Given the description of an element on the screen output the (x, y) to click on. 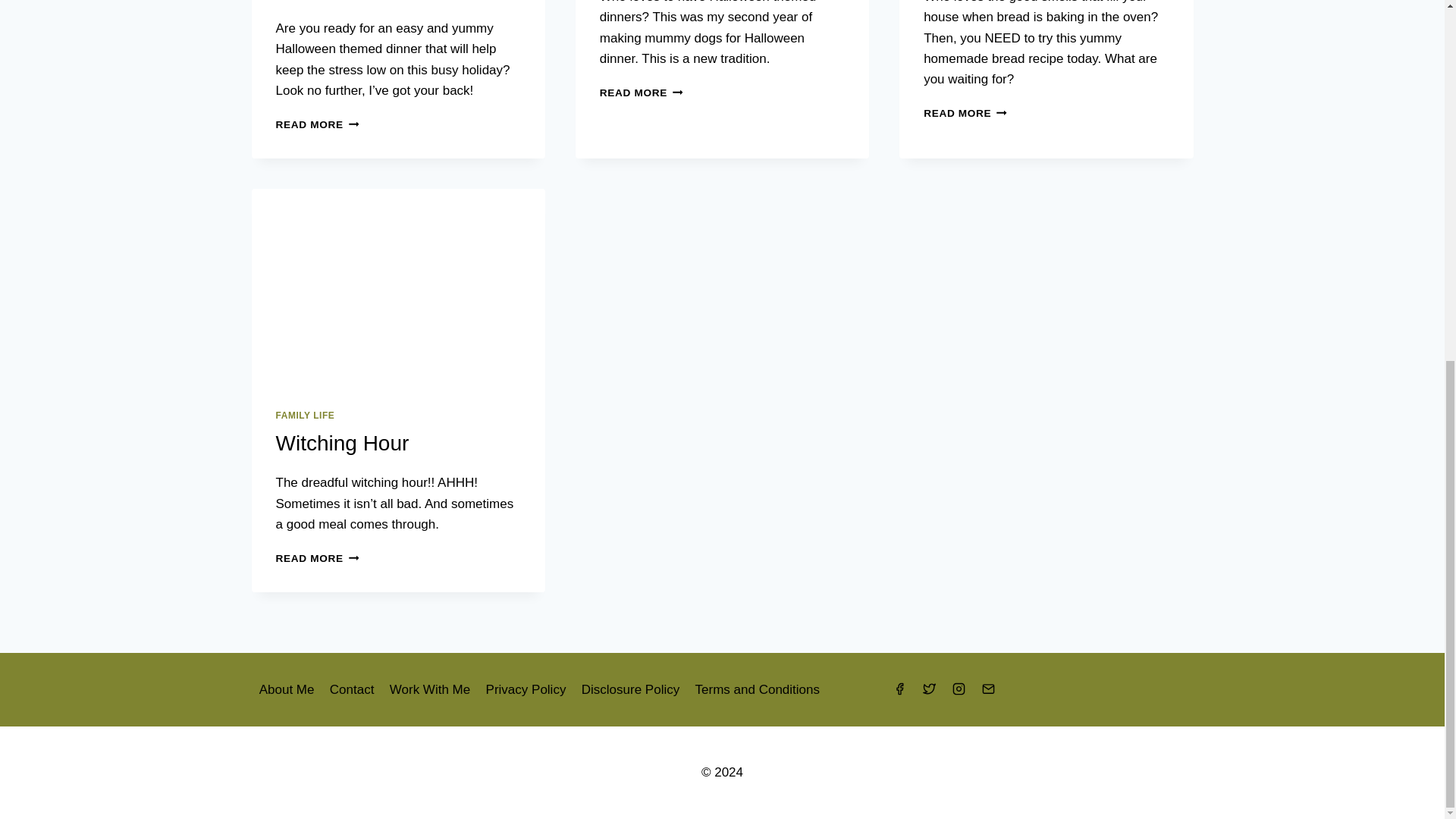
Work With Me (430, 689)
FAMILY LIFE (965, 112)
Witching Hour (305, 415)
About Me (342, 443)
Contact (286, 689)
